Given the description of an element on the screen output the (x, y) to click on. 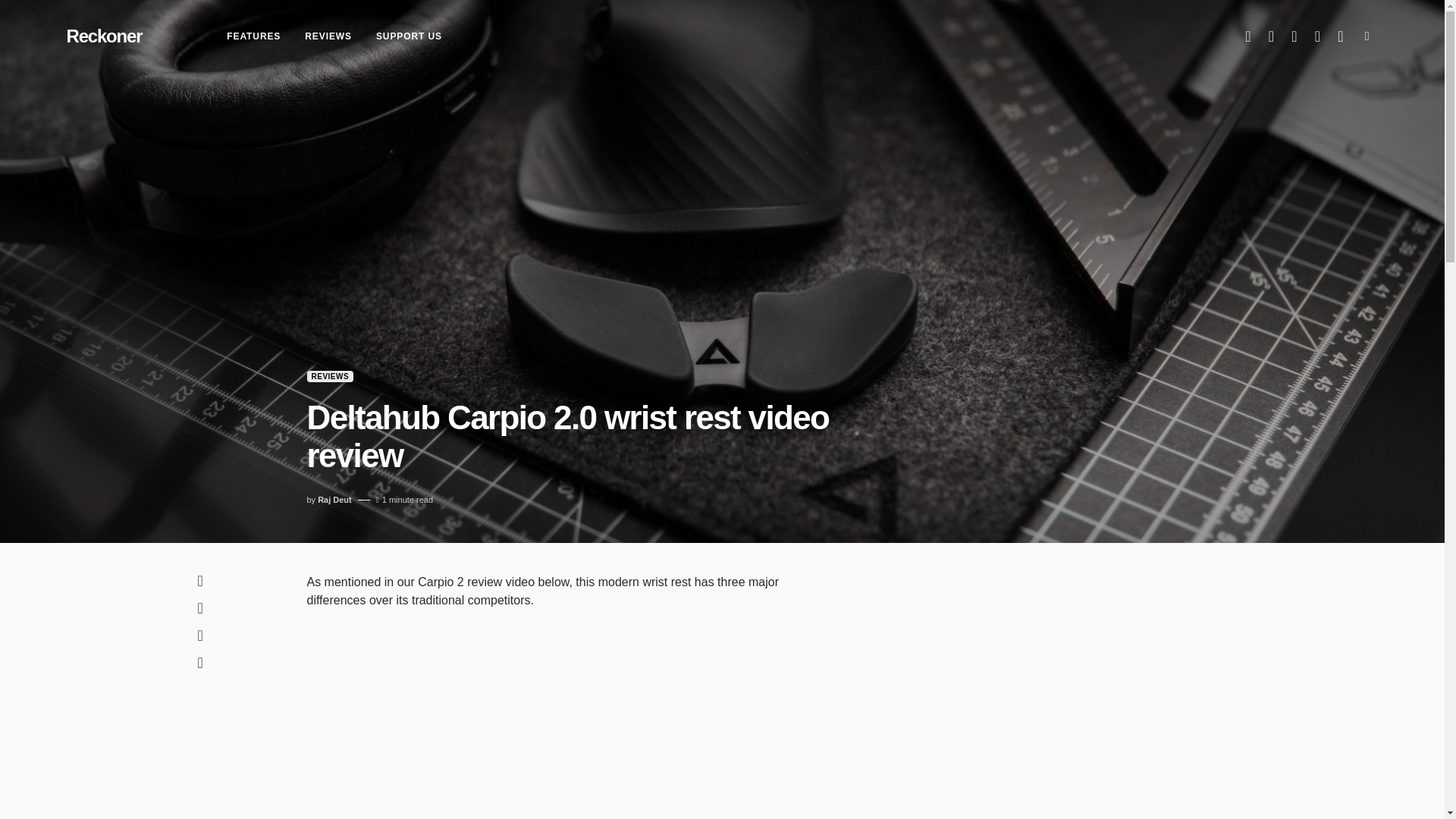
FEATURES (254, 36)
Raj Deut (334, 499)
REVIEWS (329, 376)
View all posts by Raj Deut (334, 499)
Reckoner (104, 35)
REVIEWS (328, 36)
SUPPORT US (408, 36)
